Given the description of an element on the screen output the (x, y) to click on. 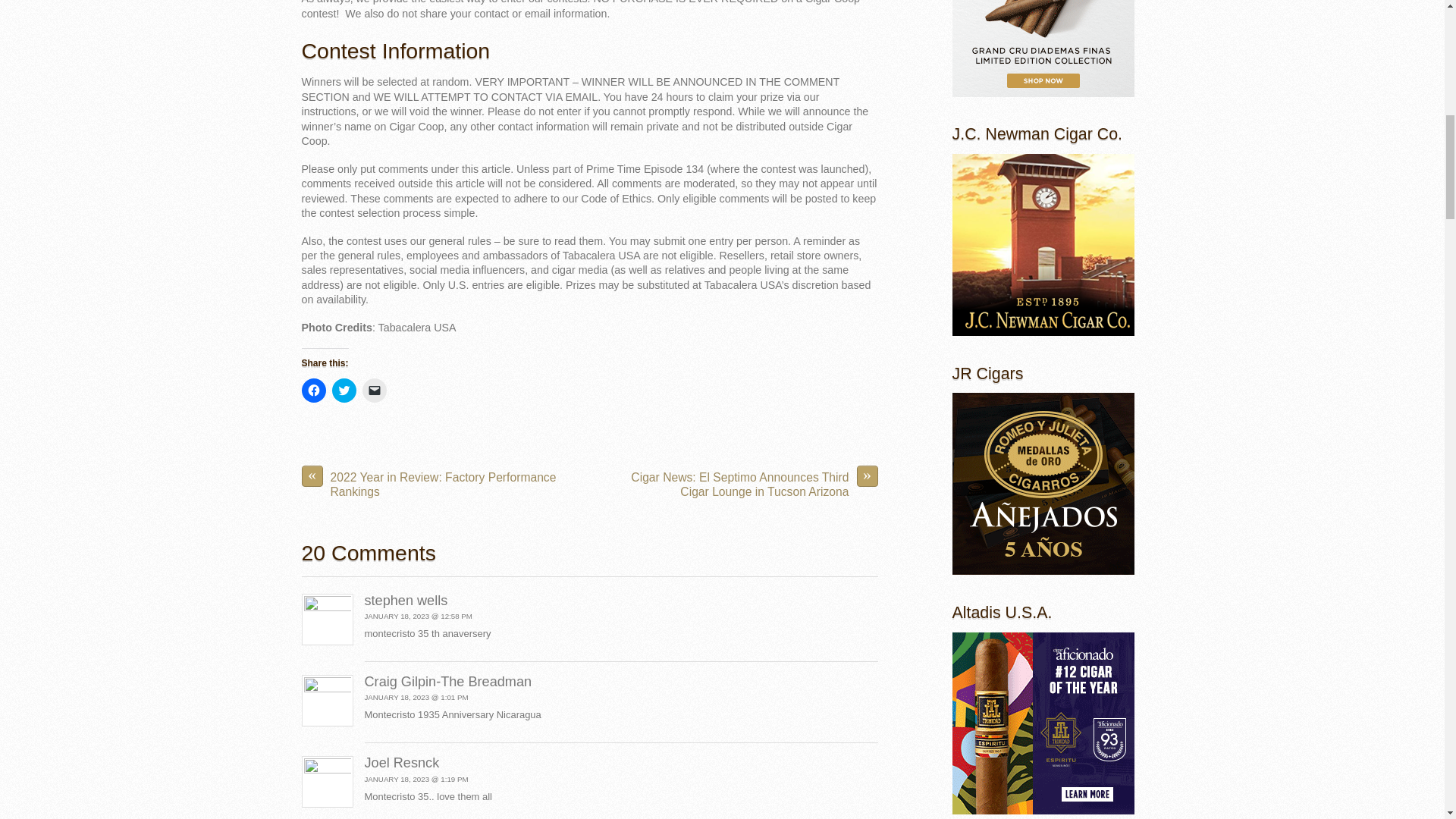
Click to email a link to a friend (374, 390)
Click to share on Facebook (313, 390)
Click to share on Twitter (343, 390)
